Given the description of an element on the screen output the (x, y) to click on. 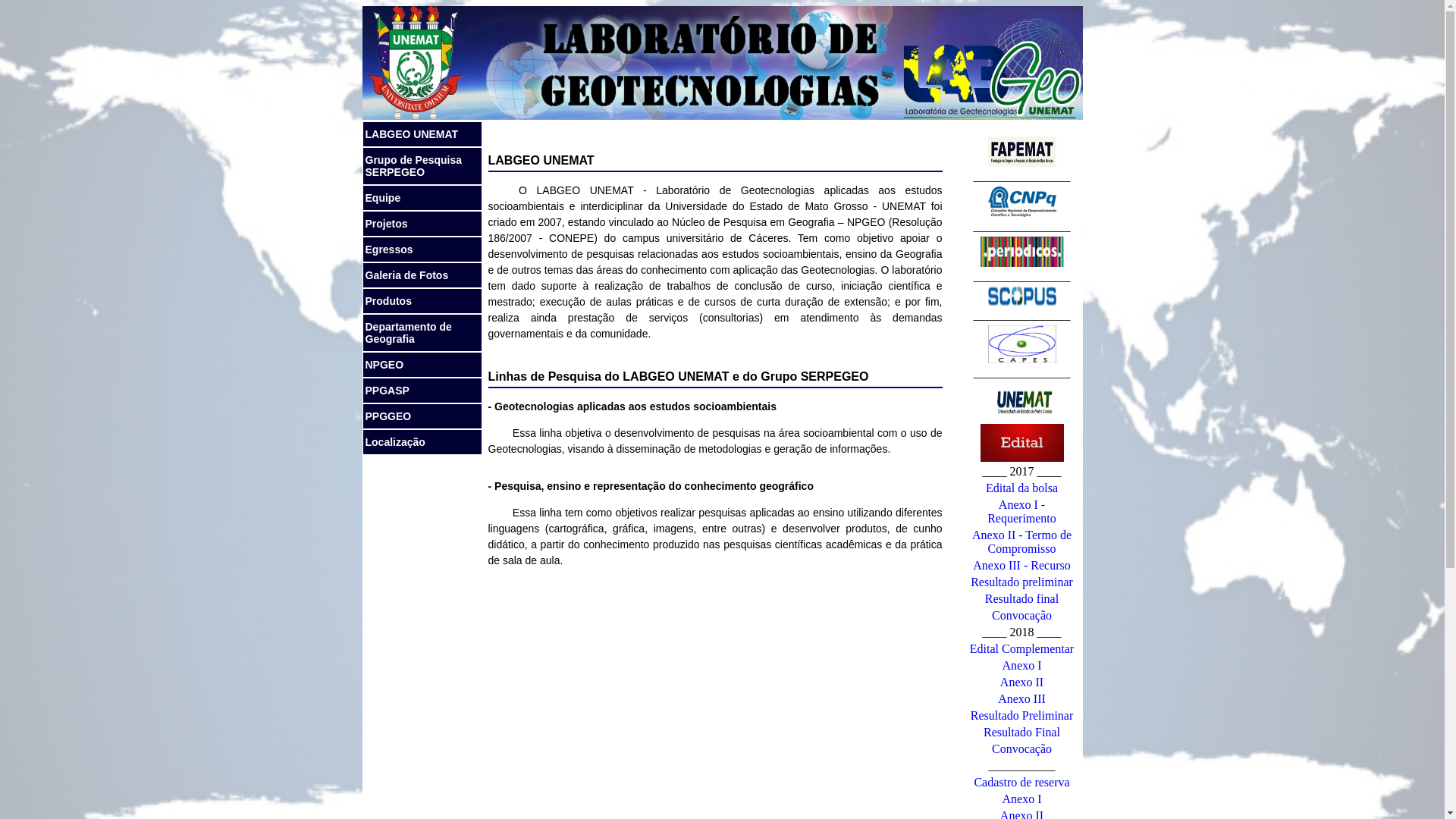
Anexo I - Requerimento Element type: text (1021, 511)
Galeria de Fotos Element type: text (421, 274)
Egressos Element type: text (421, 248)
Grupo de Pesquisa SERPEGEO Element type: text (421, 165)
Resultado preliminar Element type: text (1021, 581)
Anexo III Element type: text (1021, 698)
Edital da bolsa Element type: text (1021, 487)
Cadastro de reserva Element type: text (1021, 781)
PPGASP Element type: text (421, 389)
Anexo II - Termo de Compromisso Element type: text (1021, 541)
Anexo I Element type: text (1021, 798)
Resultado Preliminar Element type: text (1021, 715)
Equipe Element type: text (421, 197)
Projetos Element type: text (421, 222)
PPGGEO Element type: text (421, 415)
Resultado Final Element type: text (1021, 731)
Anexo II Element type: text (1021, 681)
Edital Complementar Element type: text (1021, 648)
Anexo I Element type: text (1021, 664)
Resultado final Element type: text (1021, 598)
Anexo III - Recurso Element type: text (1021, 564)
Produtos Element type: text (421, 300)
NPGEO Element type: text (421, 363)
LABGEO UNEMAT Element type: text (421, 133)
Departamento de Geografia Element type: text (421, 332)
